Given the description of an element on the screen output the (x, y) to click on. 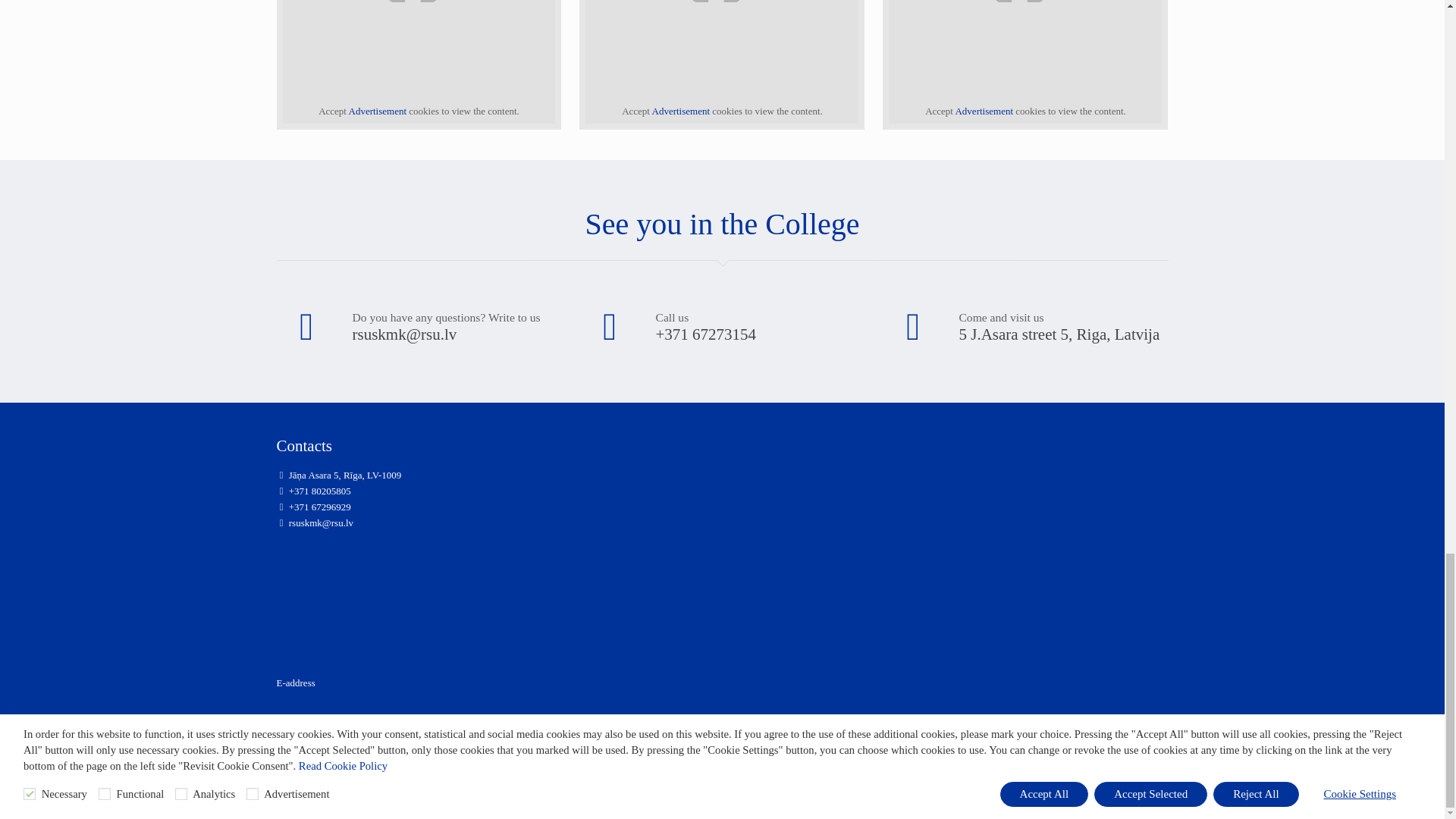
YouTube (1131, 756)
Facebook (1115, 756)
Instagram (1147, 756)
